Given the description of an element on the screen output the (x, y) to click on. 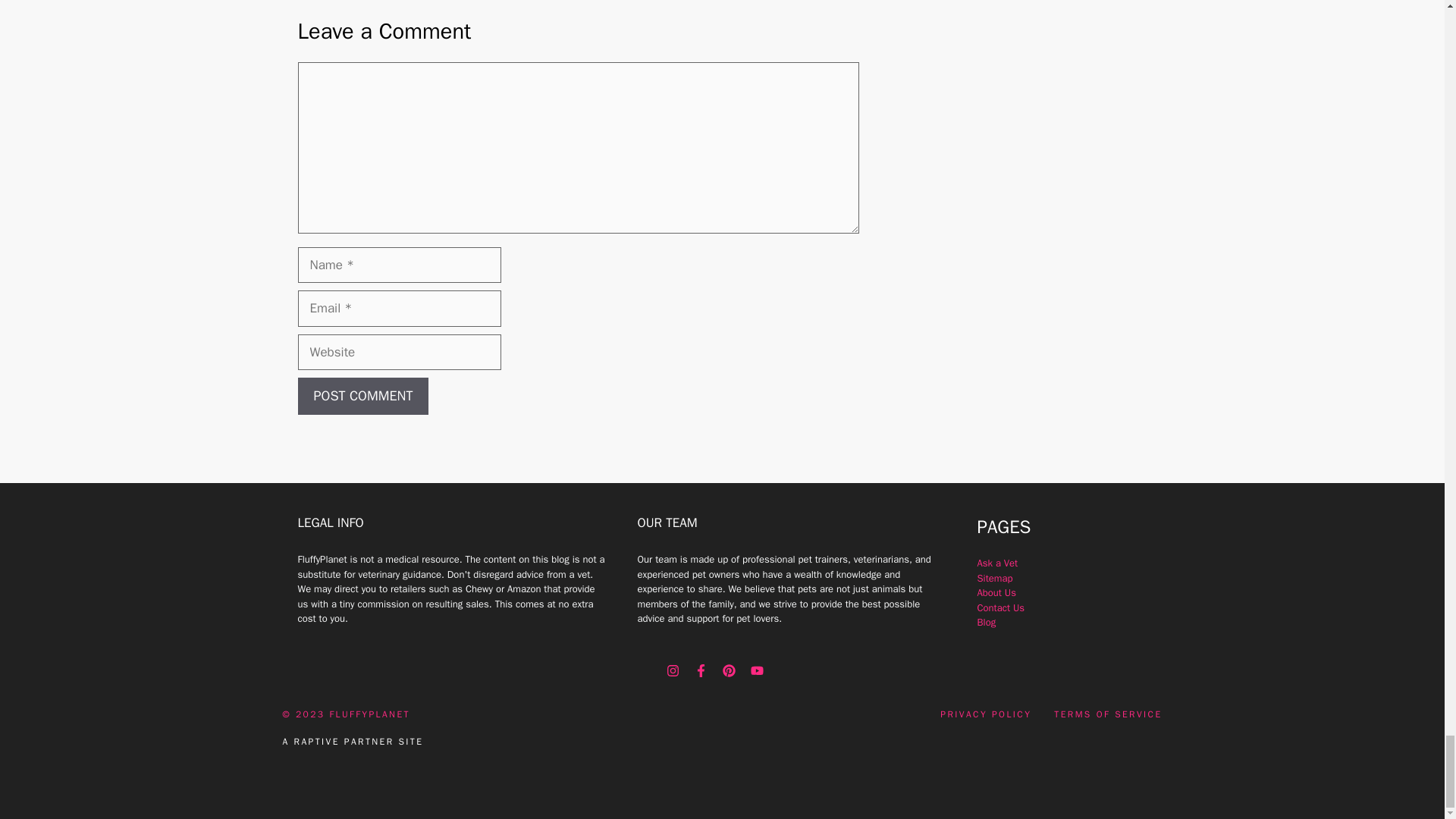
TERMS OF SERVICE (1107, 714)
Ask a Vet (996, 562)
PRIVACY POLICY (985, 714)
FLUFFYPLANET (369, 714)
About Us (995, 592)
Sitemap (993, 577)
Post Comment (362, 395)
Contact Us (1000, 607)
Post Comment (362, 395)
Blog (985, 621)
